Given the description of an element on the screen output the (x, y) to click on. 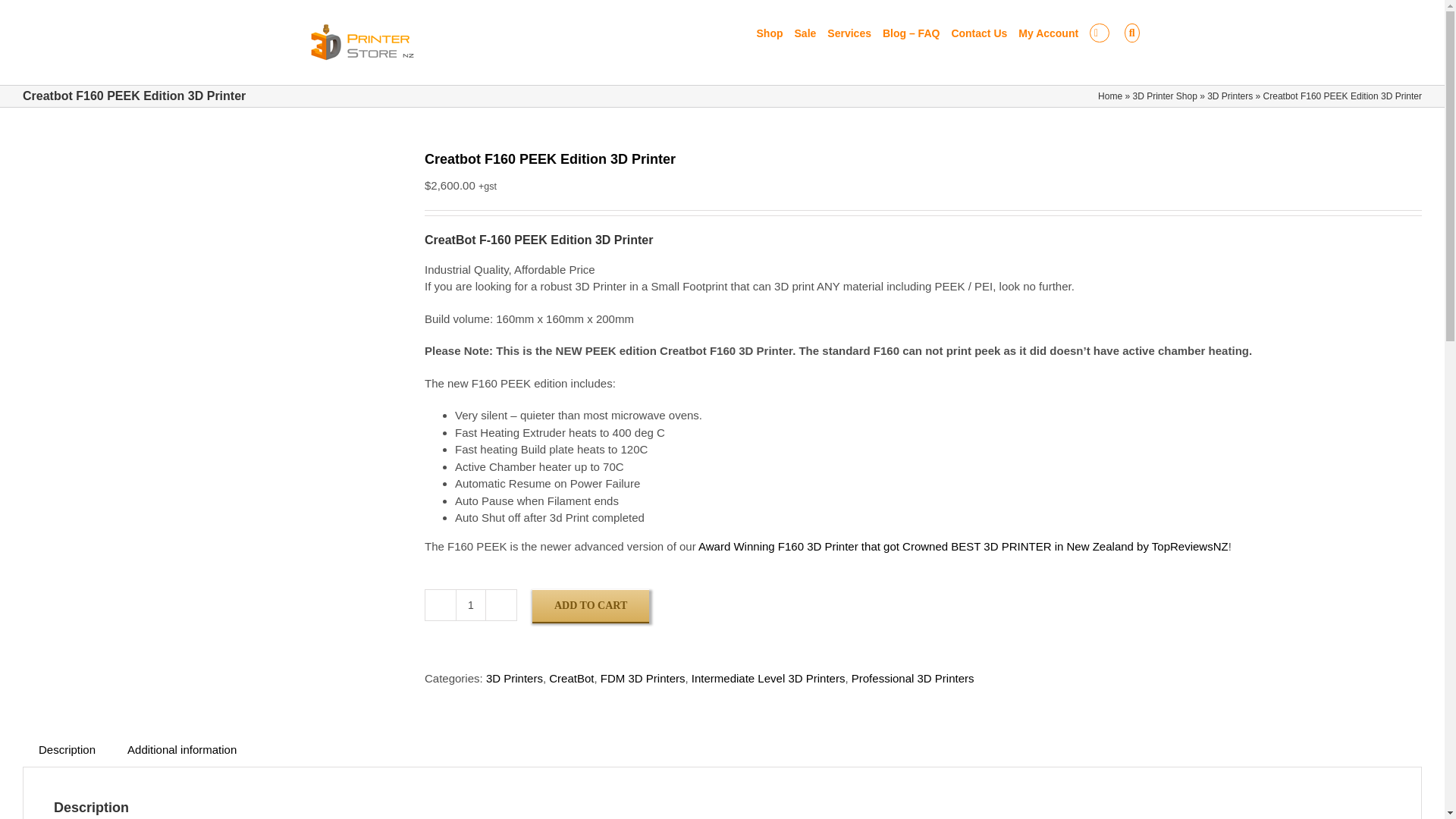
1 (470, 604)
